Given the description of an element on the screen output the (x, y) to click on. 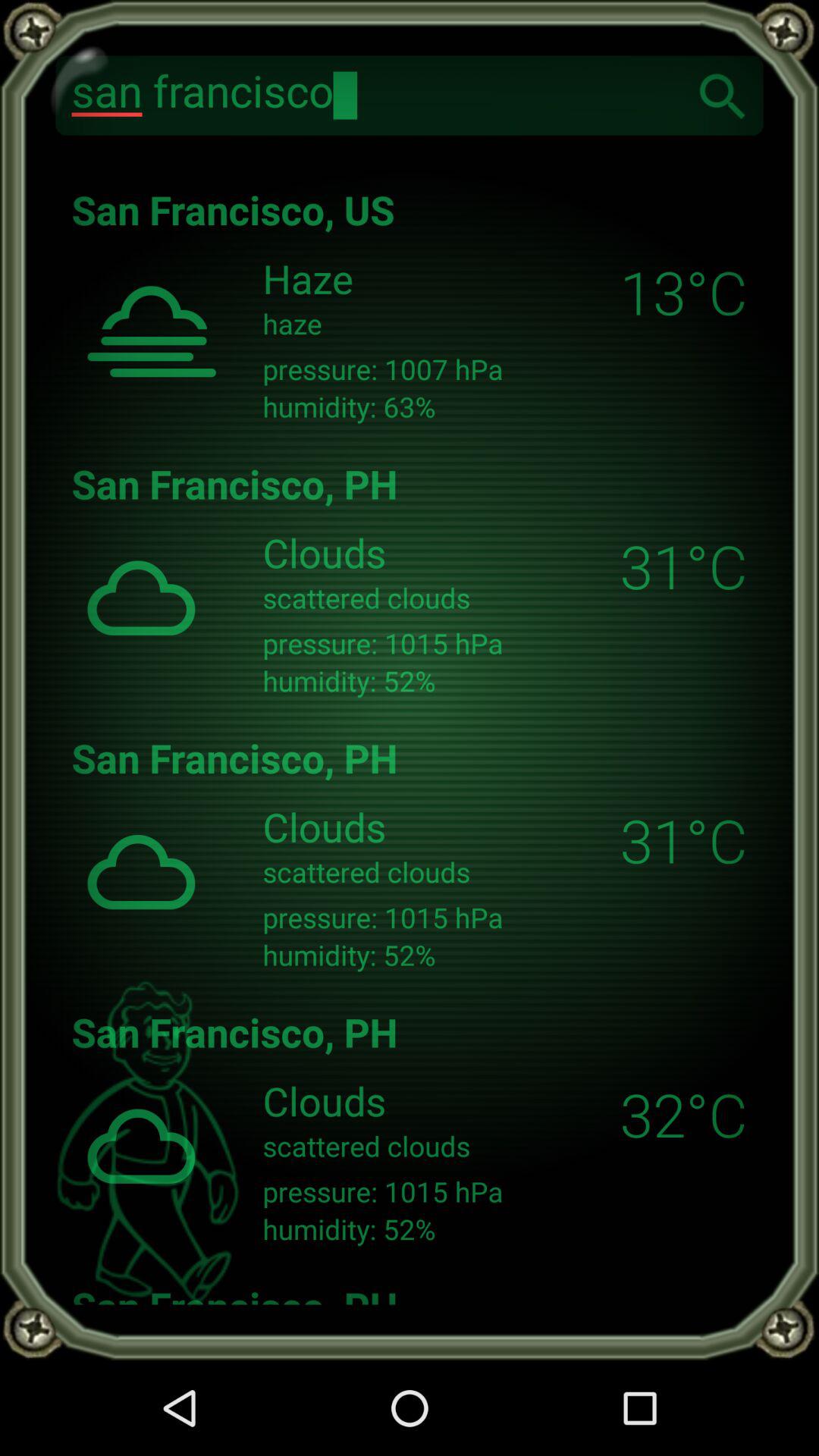
search botton (723, 95)
